Given the description of an element on the screen output the (x, y) to click on. 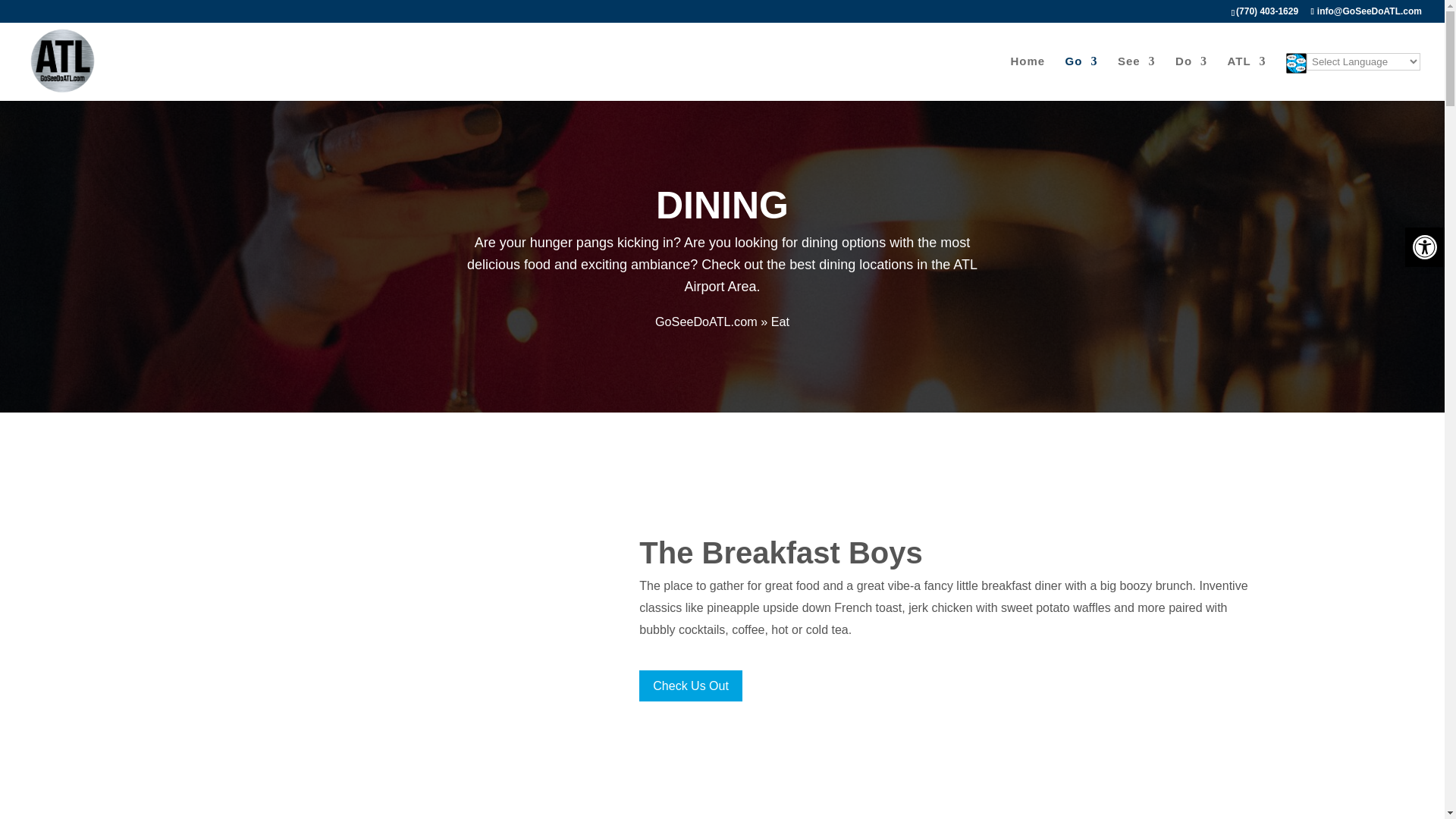
GoSeeDoATL.com (706, 321)
Accessibility Tools (1424, 247)
See (1137, 76)
Check Us Out (690, 685)
ATL (1246, 76)
